Given the description of an element on the screen output the (x, y) to click on. 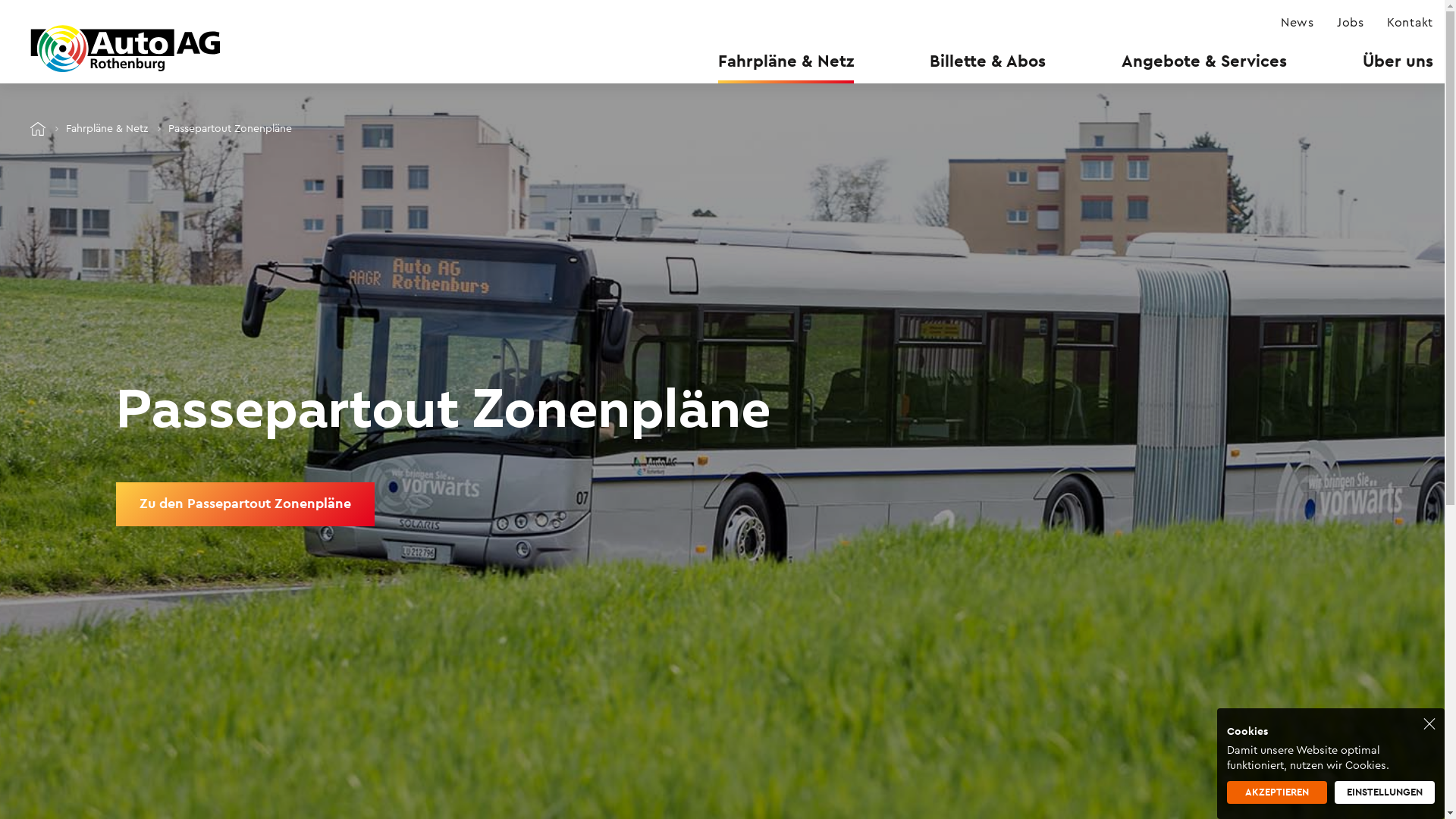
Close Element type: text (1429, 723)
EINSTELLUNGEN Element type: text (1384, 792)
Jobs Element type: text (1350, 22)
Open sub menu Element type: text (11, 11)
News Element type: text (1297, 22)
Auto AG Rothenburg Element type: text (37, 128)
Kontakt Element type: text (1409, 22)
Startseite Element type: text (124, 48)
Angebote & Services Element type: text (1204, 60)
AKZEPTIEREN Element type: text (1276, 792)
Billette & Abos Element type: text (987, 60)
